Given the description of an element on the screen output the (x, y) to click on. 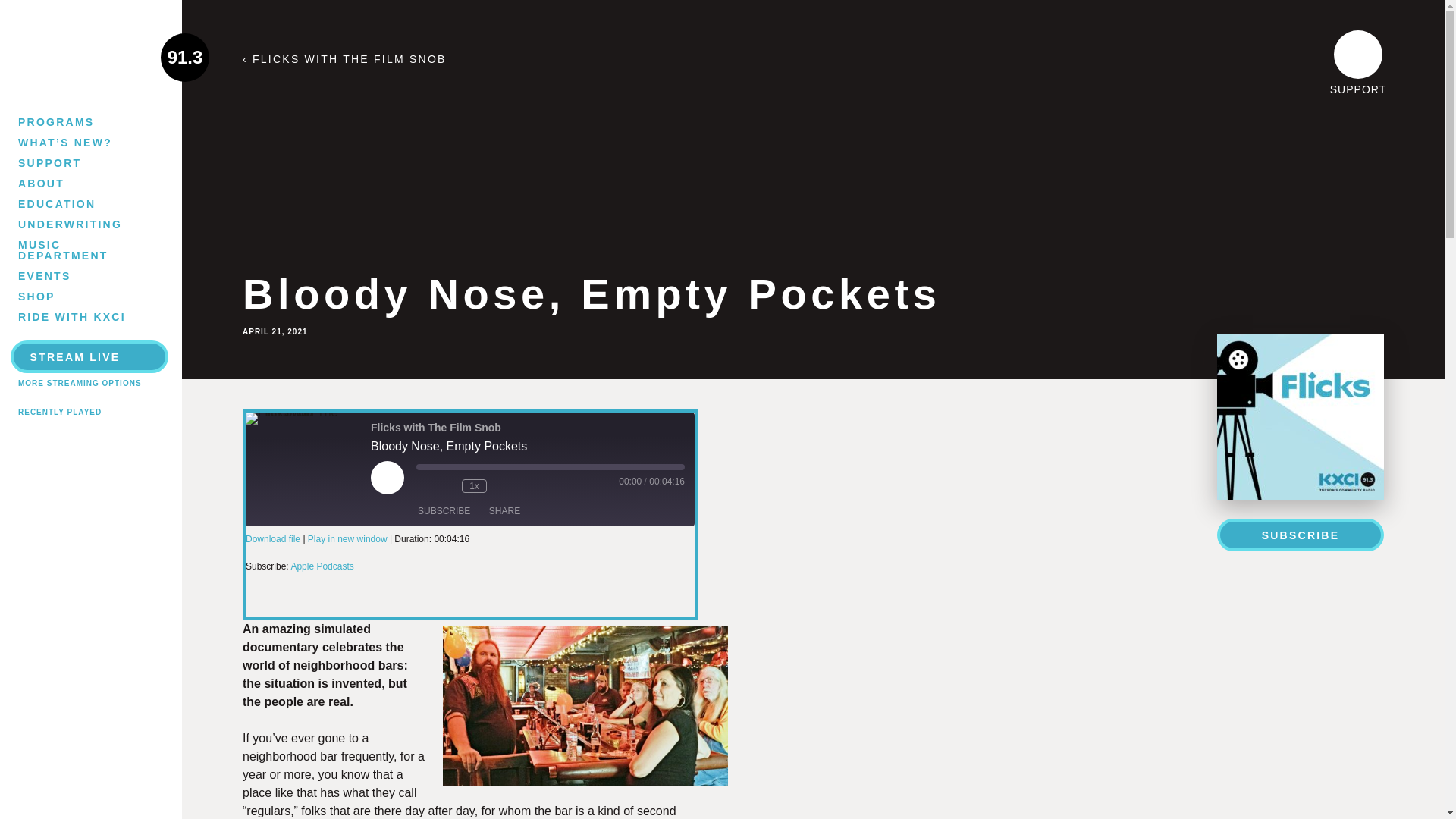
Share (504, 510)
SHOP (72, 295)
Seek (550, 467)
MORE STREAMING OPTIONS (79, 383)
SUPPORT (72, 162)
Subscribe (443, 510)
EVENTS (72, 275)
Home (90, 57)
Playback Speed (473, 486)
SUBSCRIBE (443, 510)
